Given the description of an element on the screen output the (x, y) to click on. 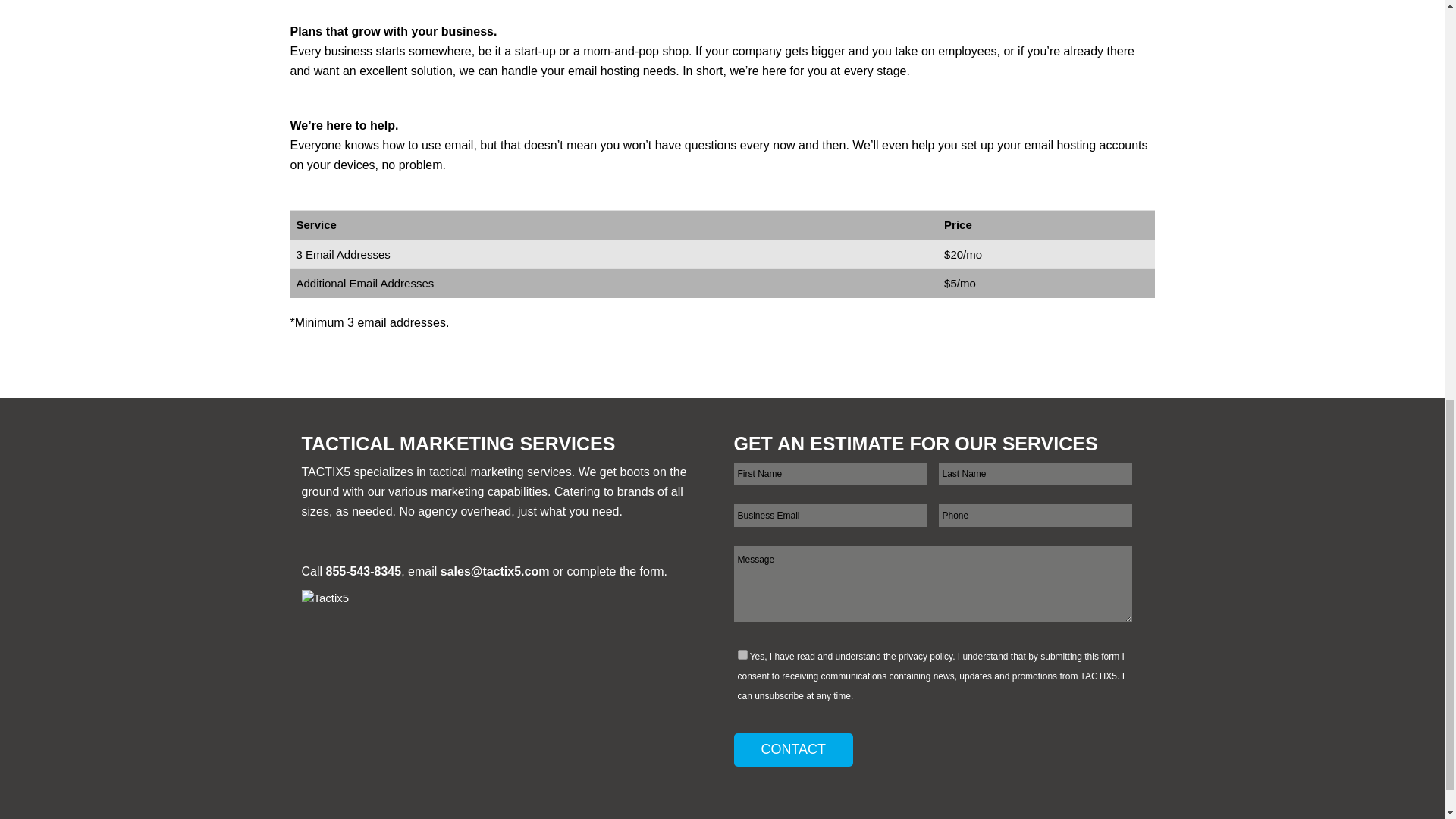
855-543-8345 (363, 571)
CONTACT (793, 749)
CONTACT (793, 749)
